Given the description of an element on the screen output the (x, y) to click on. 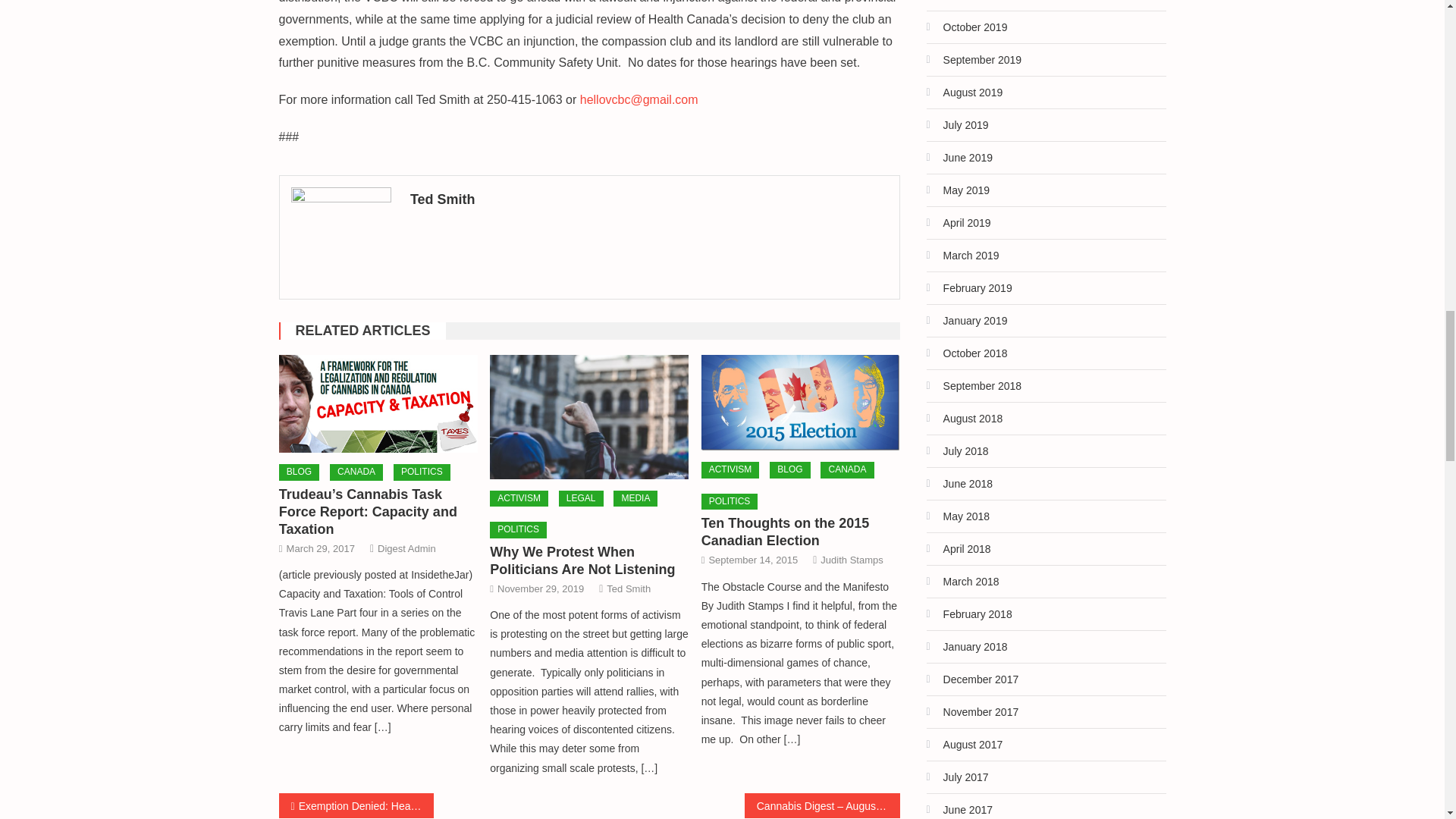
March 29, 2017 (320, 548)
Why We Protest When Politicians Are Not Listening (582, 560)
CANADA (356, 472)
POLITICS (421, 472)
BLOG (298, 472)
POLITICS (518, 529)
Ten Thoughts on the 2015 Canadian Election (800, 402)
Why We Protest When Politicians Are Not Listening (588, 416)
LEGAL (581, 498)
Ted Smith (649, 199)
